Given the description of an element on the screen output the (x, y) to click on. 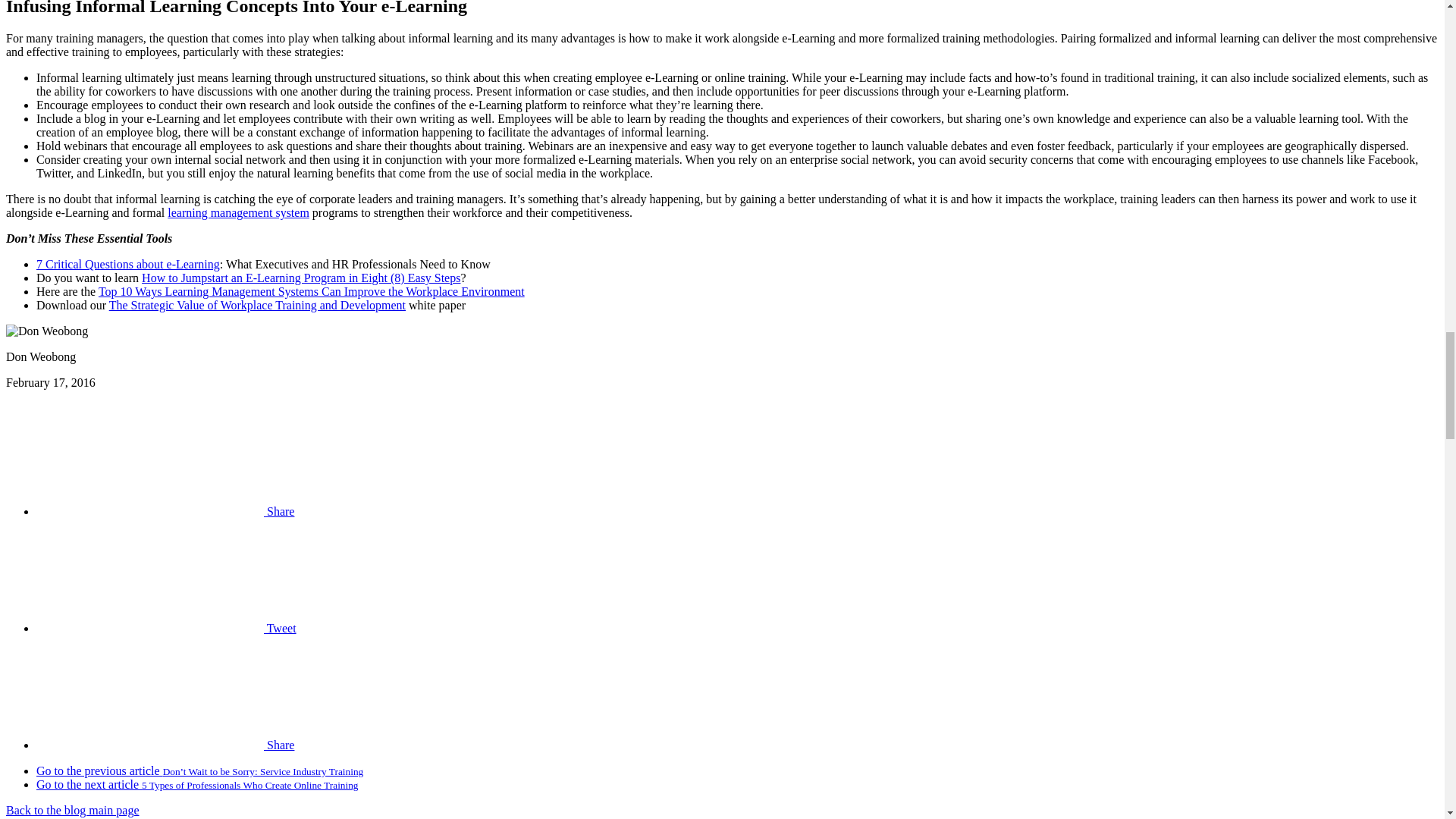
learning management system (237, 212)
The Strategic Value of Workplace Training and Development (257, 305)
Share (165, 511)
Share (165, 744)
Tweet (166, 627)
7 Critical Questions about e-Learning (127, 264)
